Given the description of an element on the screen output the (x, y) to click on. 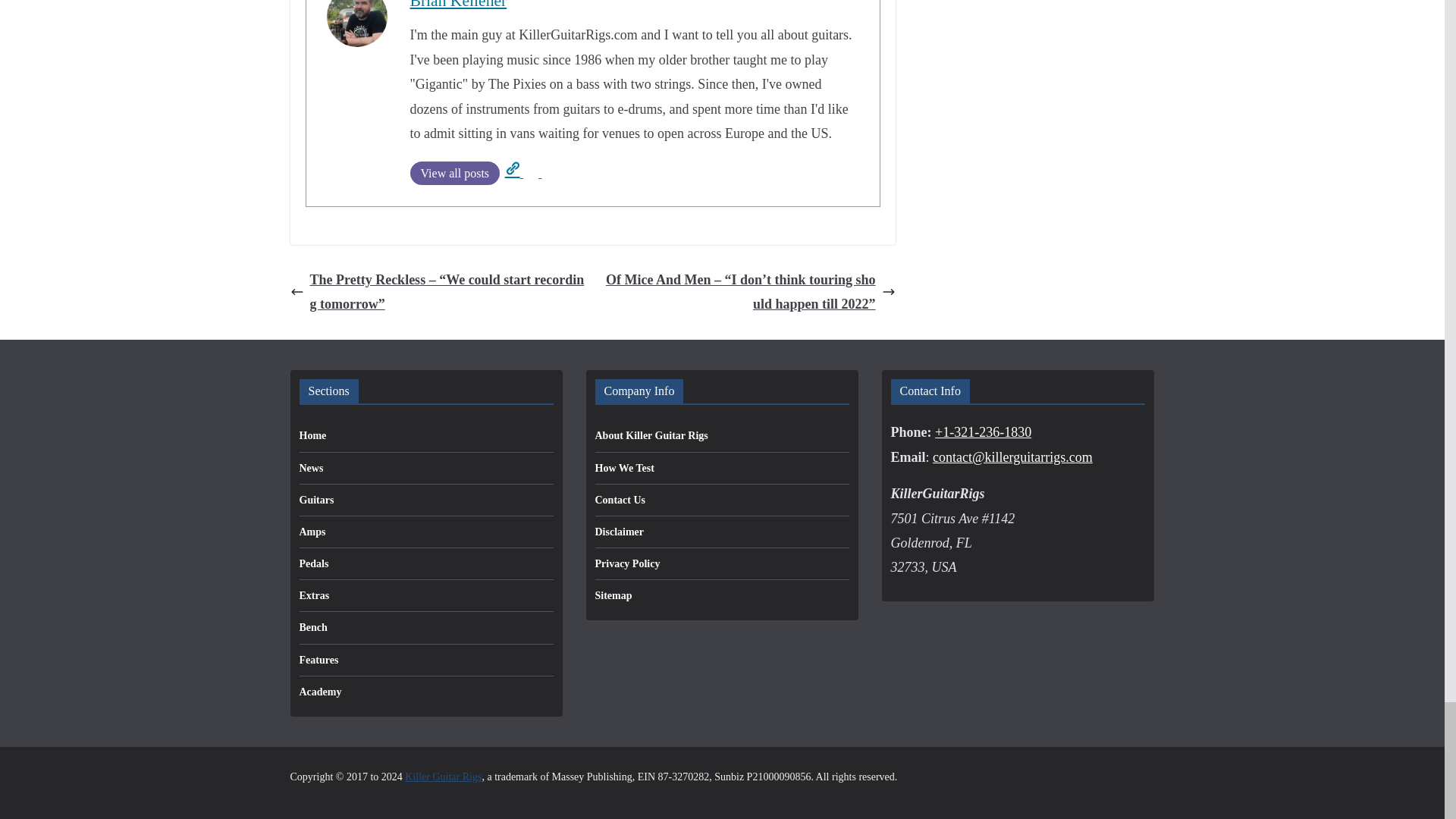
View all posts (454, 173)
Brian Kelleher (457, 4)
Killer Guitar Rigs (442, 776)
